Given the description of an element on the screen output the (x, y) to click on. 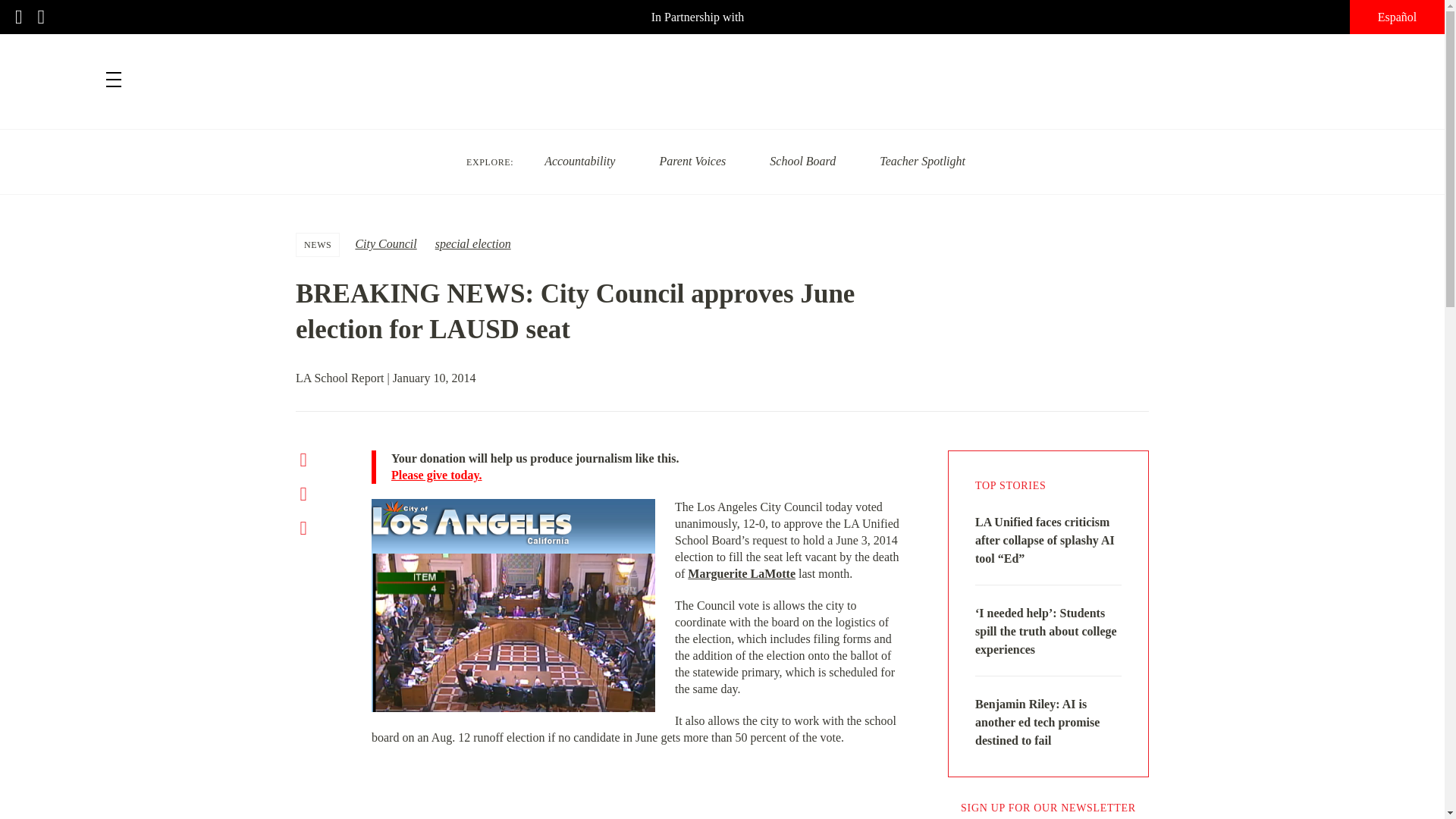
City Council (385, 243)
Teacher Spotlight (922, 160)
Marguerite LaMotte (740, 573)
In Partnership with 74 (721, 16)
special election (473, 243)
NEWS (317, 244)
LA School Report (721, 71)
Parent Voices (692, 160)
School Board (802, 160)
Please give today. (646, 475)
Accountability (579, 160)
